Given the description of an element on the screen output the (x, y) to click on. 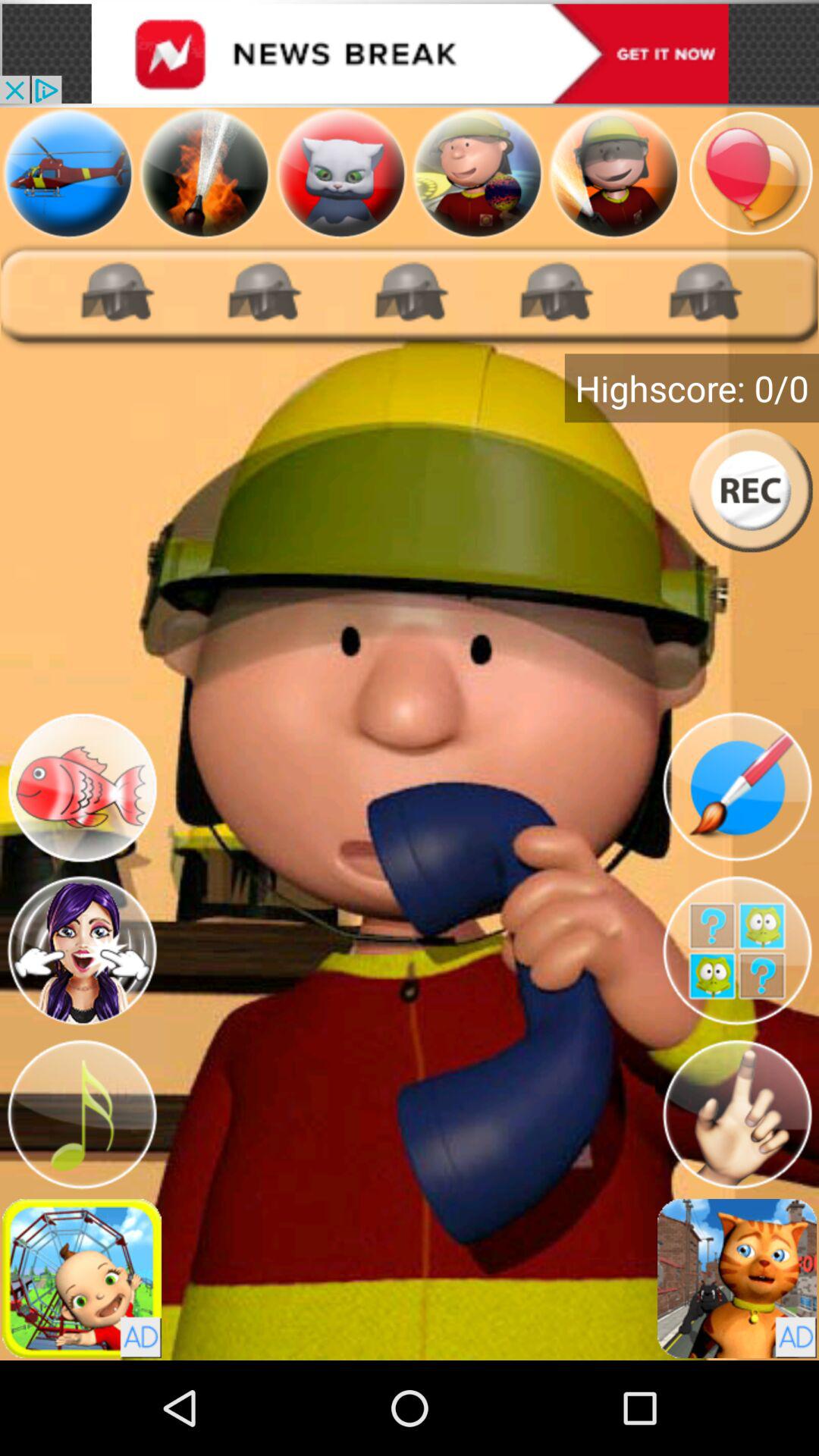
show music options (81, 1114)
